Given the description of an element on the screen output the (x, y) to click on. 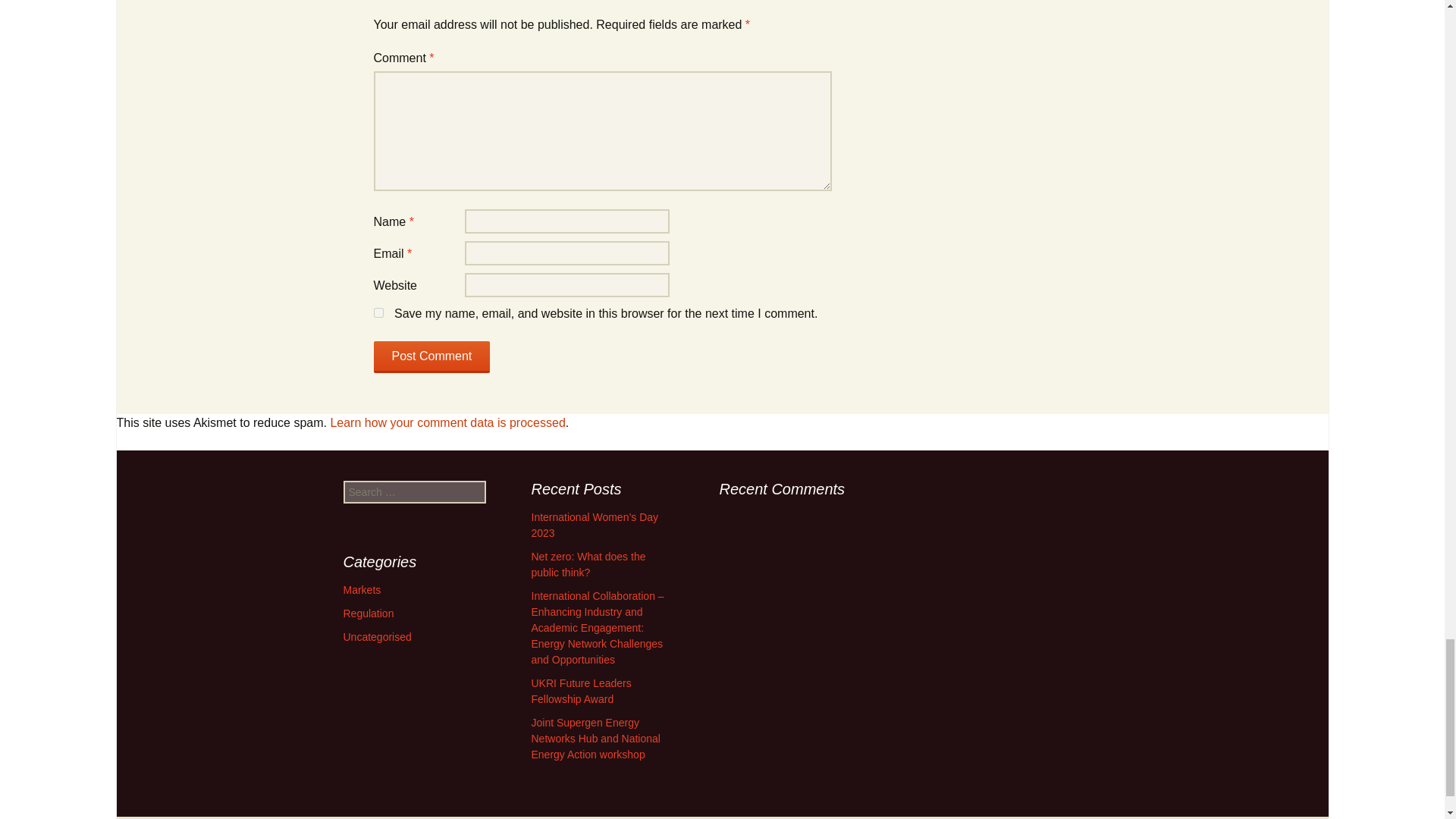
Post Comment (430, 357)
UKRI Future Leaders Fellowship Award (580, 691)
yes (377, 312)
Regulation (367, 613)
Net zero: What does the public think? (588, 564)
Uncategorised (376, 636)
Learn how your comment data is processed (447, 422)
Post Comment (430, 357)
Markets (361, 589)
